Given the description of an element on the screen output the (x, y) to click on. 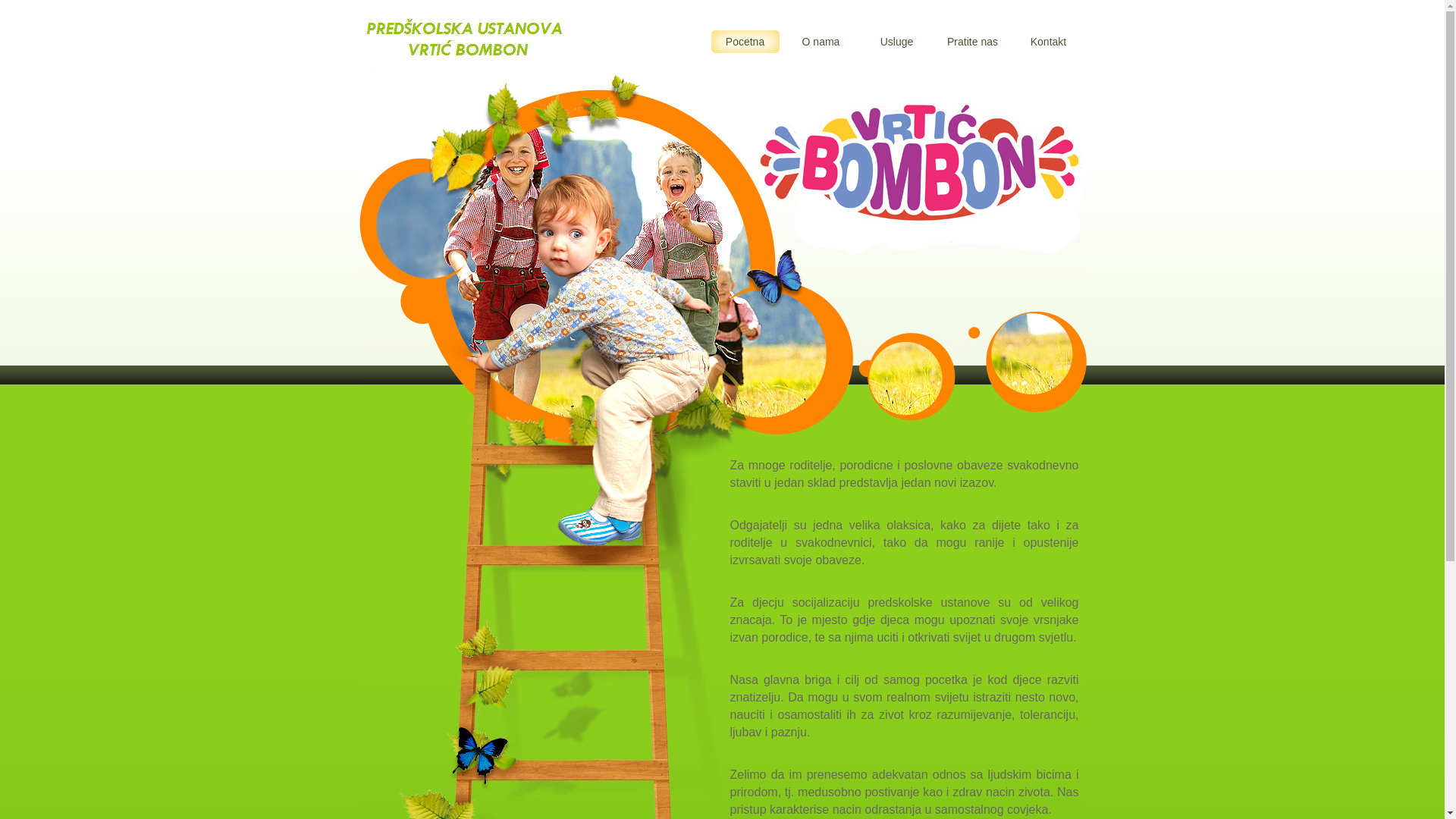
Usluge Element type: text (896, 41)
Pocetna Element type: text (745, 41)
O nama Element type: text (821, 41)
Pratite nas Element type: text (972, 41)
Kontakt Element type: text (1048, 41)
